Given the description of an element on the screen output the (x, y) to click on. 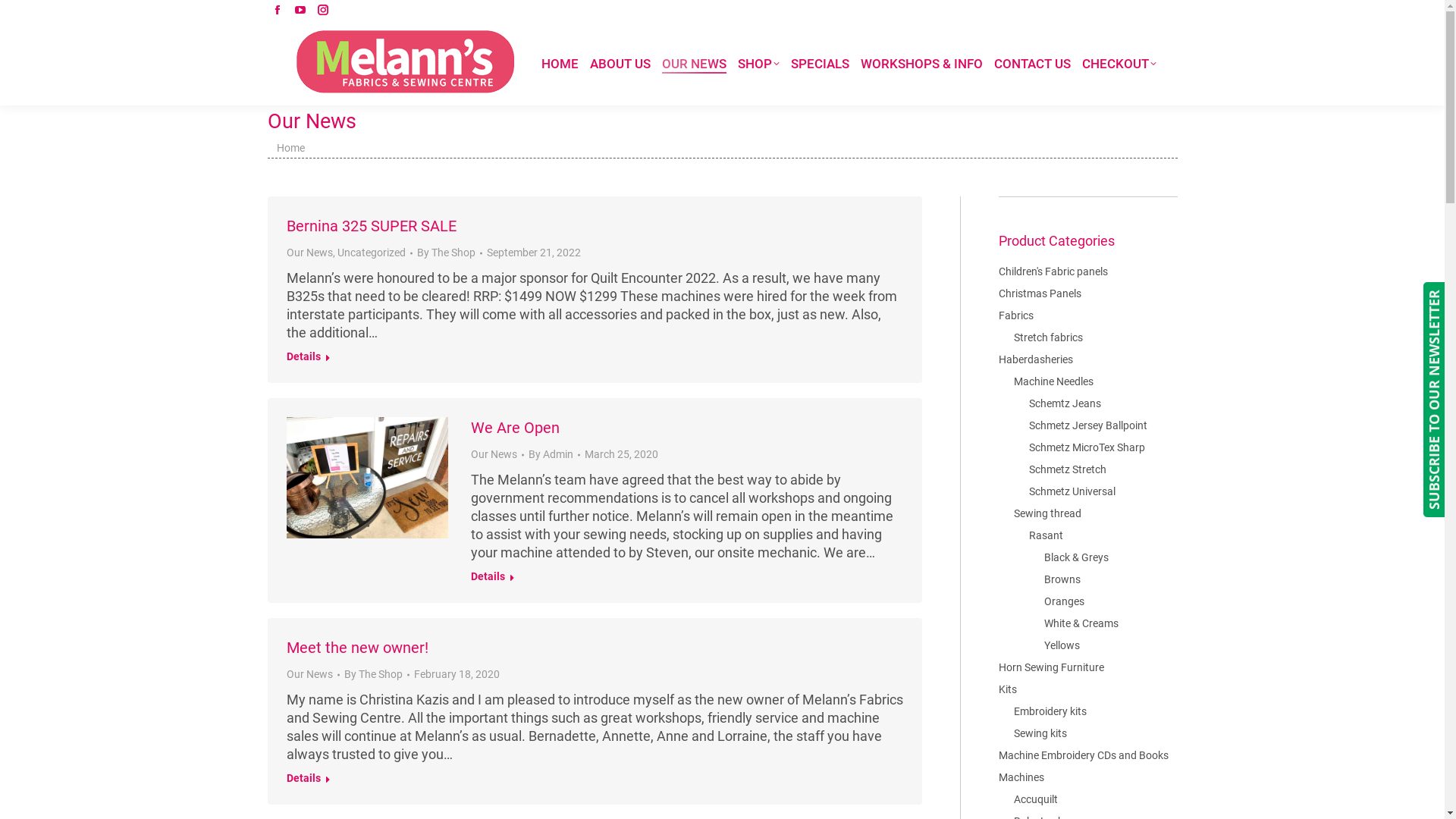
September 21, 2022 Element type: text (533, 252)
Yellows Element type: text (1061, 645)
Meet the new owner! Element type: text (357, 647)
Details Element type: text (308, 780)
Details Element type: text (308, 358)
Our News Element type: text (309, 674)
February 18, 2020 Element type: text (456, 674)
HOME Element type: text (559, 64)
Our News Element type: text (309, 252)
Sewing kits Element type: text (1039, 733)
Bernina 325 SUPER SALE Element type: text (371, 225)
ABOUT US Element type: text (619, 64)
Machine Needles Element type: text (1052, 381)
White & Creams Element type: text (1080, 623)
Browns Element type: text (1061, 579)
Instagram page opens in new window Element type: text (322, 9)
Schemtz Jeans Element type: text (1064, 403)
Facebook page opens in new window Element type: text (276, 9)
SHOP Element type: text (757, 64)
Haberdasheries Element type: text (1034, 359)
Schmetz Stretch Element type: text (1066, 469)
Oranges Element type: text (1063, 601)
Details Element type: text (492, 578)
Sewing thread Element type: text (1046, 513)
CONTACT US Element type: text (1031, 64)
SPECIALS Element type: text (819, 64)
Uncategorized Element type: text (370, 252)
Stretch fabrics Element type: text (1047, 337)
Christmas Panels Element type: text (1038, 293)
Schmetz Jersey Ballpoint Element type: text (1087, 425)
YouTube page opens in new window Element type: text (299, 9)
Schmetz Universal Element type: text (1071, 491)
We Are Open Element type: hover (367, 477)
Black & Greys Element type: text (1075, 557)
Our News Element type: text (493, 454)
Home Element type: text (290, 147)
Kits Element type: text (1006, 689)
By The Shop Element type: text (449, 252)
Machine Embroidery CDs and Books Element type: text (1082, 755)
OUR NEWS Element type: text (693, 64)
By The Shop Element type: text (376, 674)
Accuquilt Element type: text (1035, 799)
Children's Fabric panels Element type: text (1052, 271)
Schmetz MicroTex Sharp Element type: text (1086, 447)
Horn Sewing Furniture Element type: text (1050, 667)
Embroidery kits Element type: text (1049, 711)
WORKSHOPS & INFO Element type: text (920, 64)
Rasant Element type: text (1045, 535)
By Admin Element type: text (554, 454)
Machines Element type: text (1020, 777)
March 25, 2020 Element type: text (621, 454)
We Are Open Element type: text (514, 427)
Fabrics Element type: text (1014, 315)
CHECKOUT Element type: text (1118, 64)
